Given the description of an element on the screen output the (x, y) to click on. 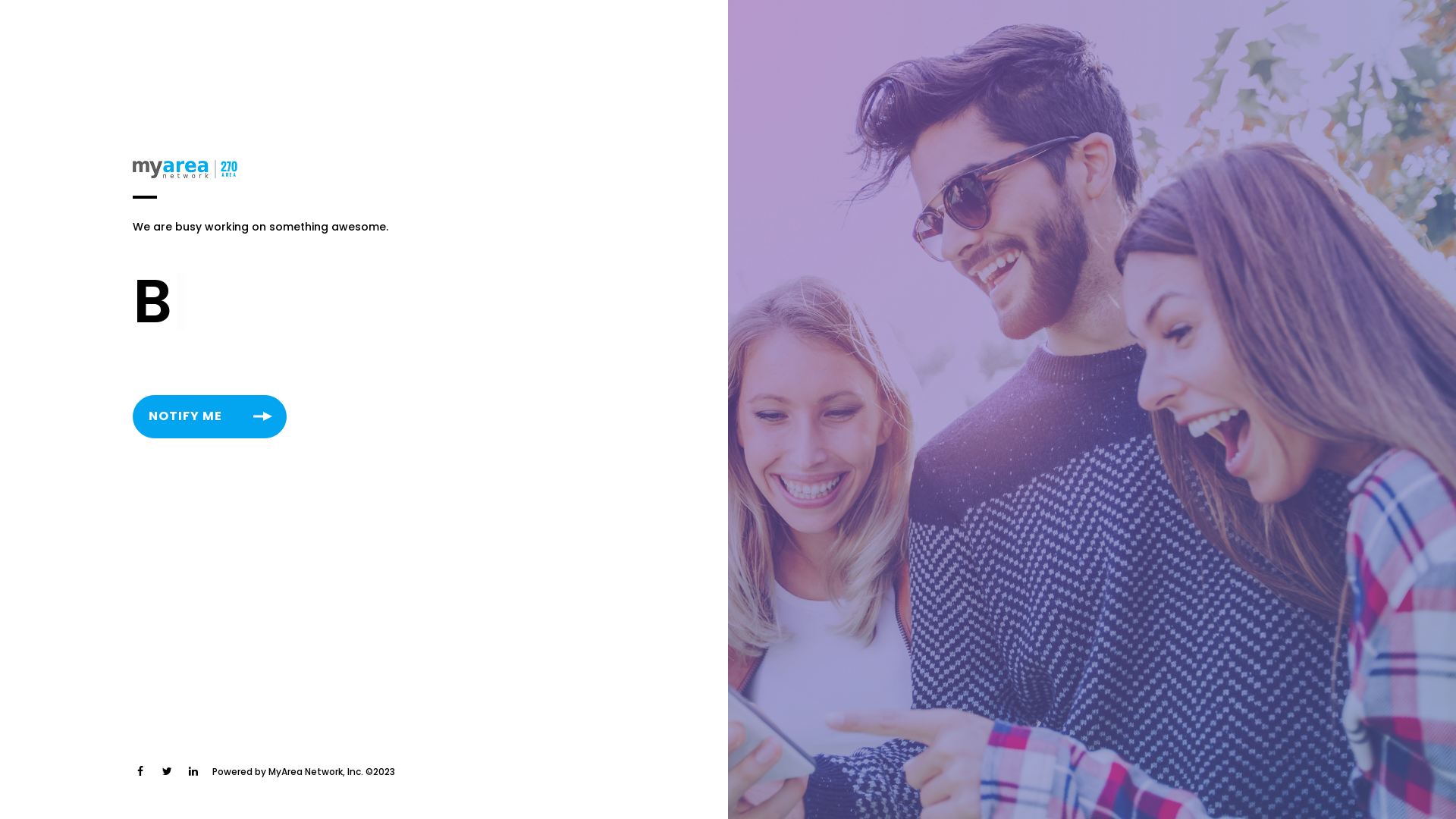
NOTIFY ME Element type: text (209, 416)
